Given the description of an element on the screen output the (x, y) to click on. 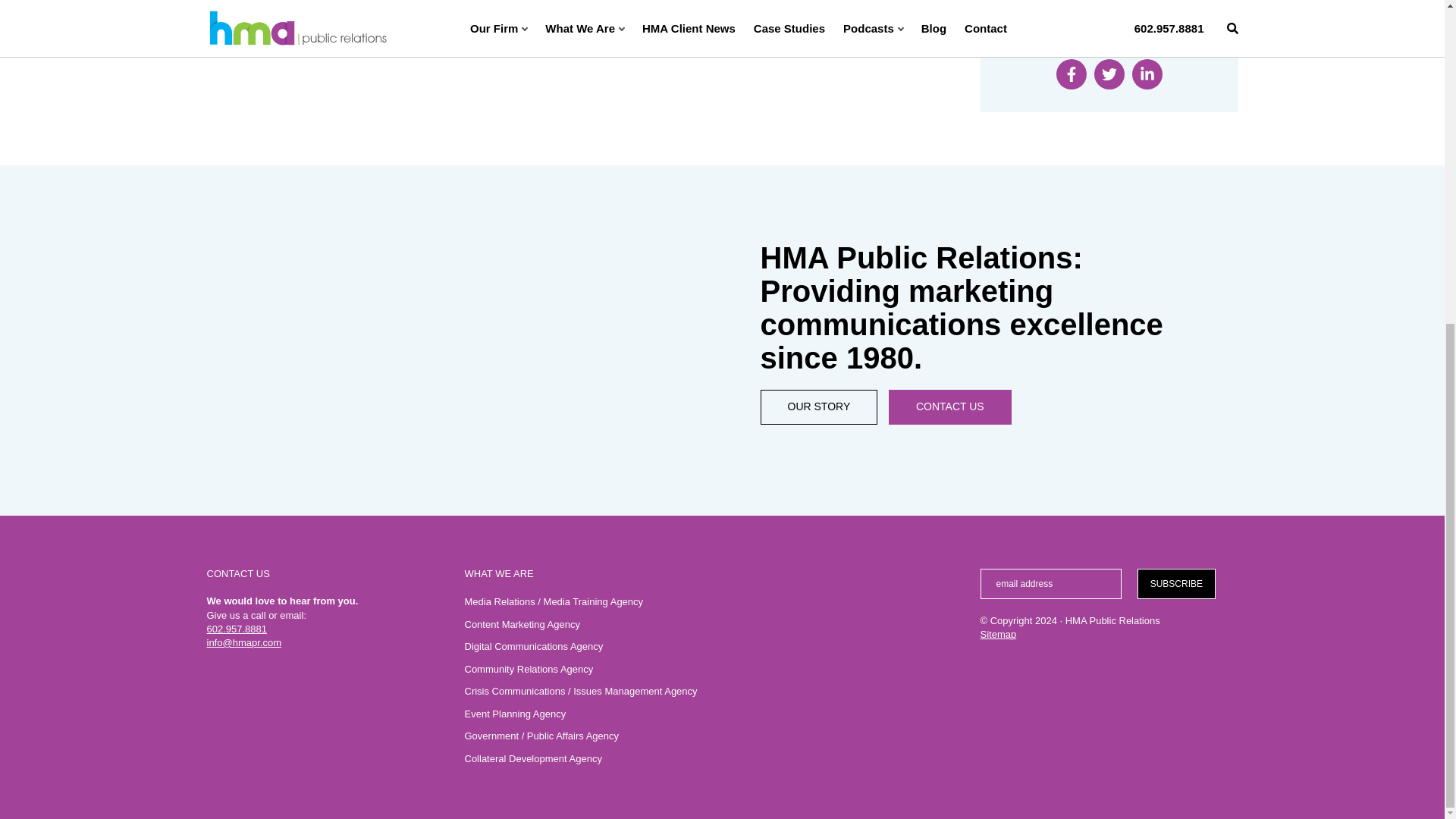
602.957.8881 (236, 628)
OUR STORY (818, 407)
Subscribe (1175, 583)
CONTACT US (949, 407)
